Given the description of an element on the screen output the (x, y) to click on. 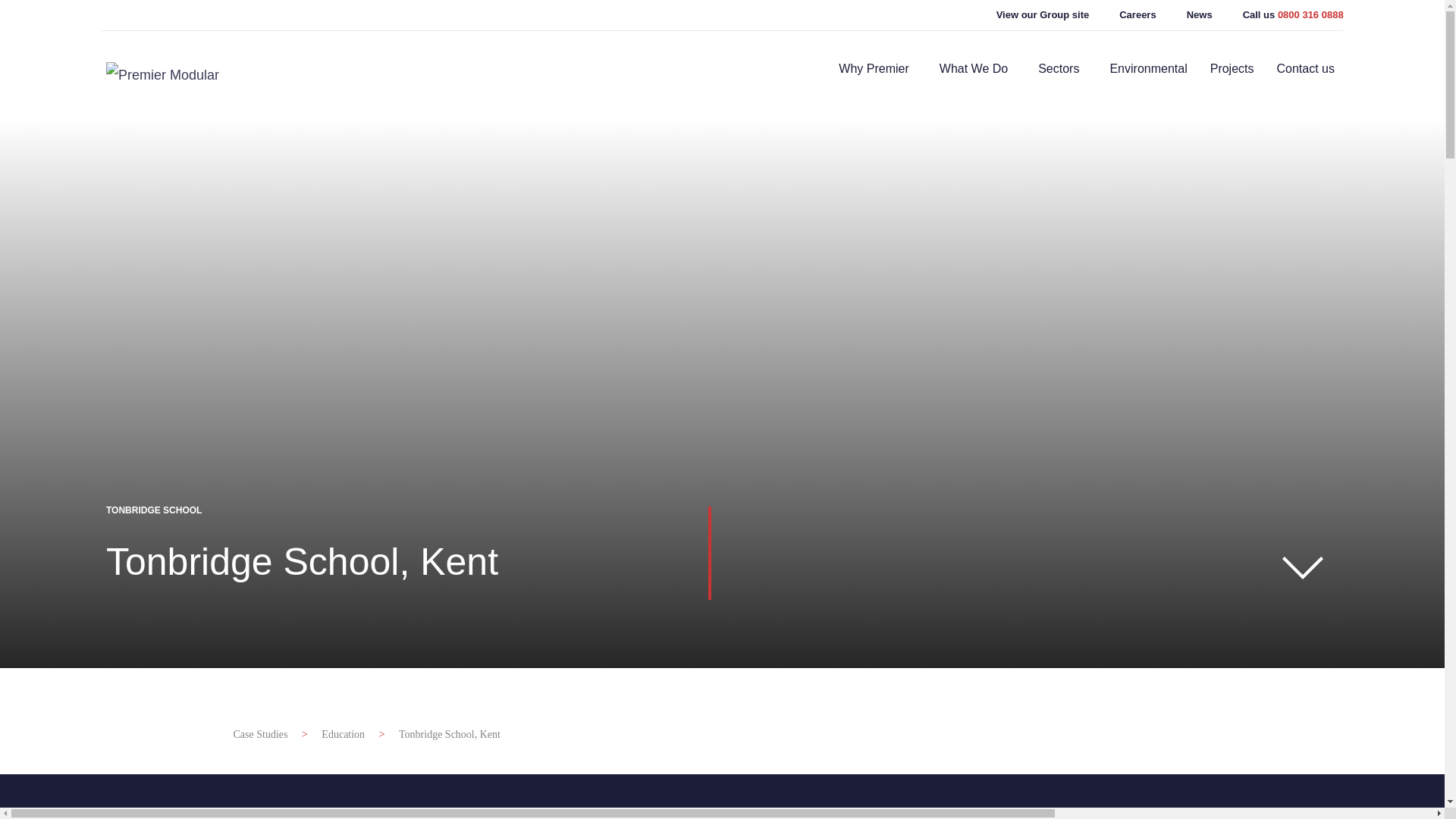
Why Premier (877, 74)
Careers (1122, 15)
News (1184, 15)
Call us 0800 316 0888 (1277, 15)
Sectors (1061, 74)
View our Group site (1027, 15)
What We Do (977, 74)
